Given the description of an element on the screen output the (x, y) to click on. 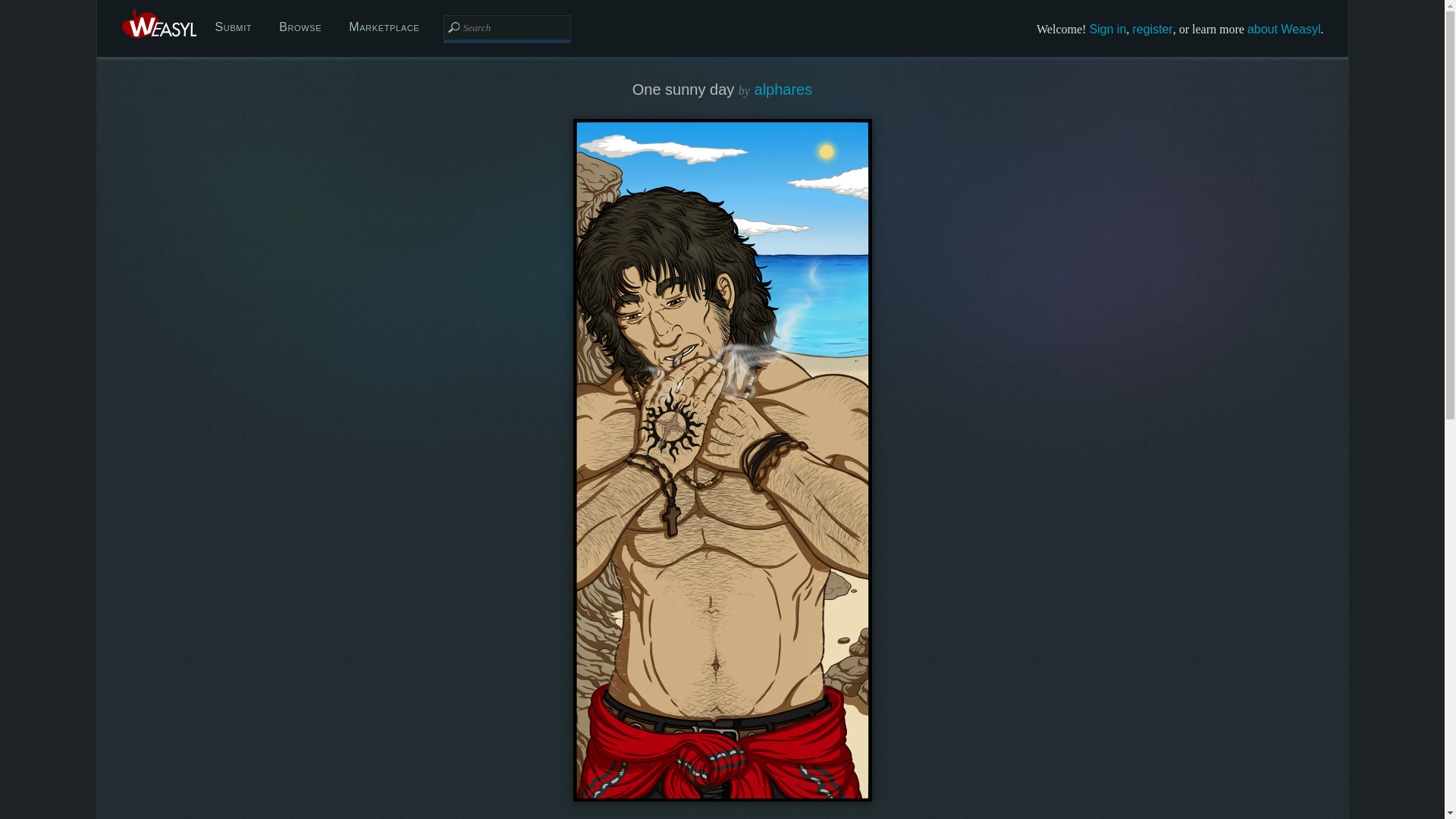
Marketplace (383, 27)
Submit (233, 27)
register (1152, 29)
Sign in (1107, 29)
about Weasyl (1283, 29)
Browse (299, 27)
alphares (783, 89)
Search Weasyl (507, 27)
